Given the description of an element on the screen output the (x, y) to click on. 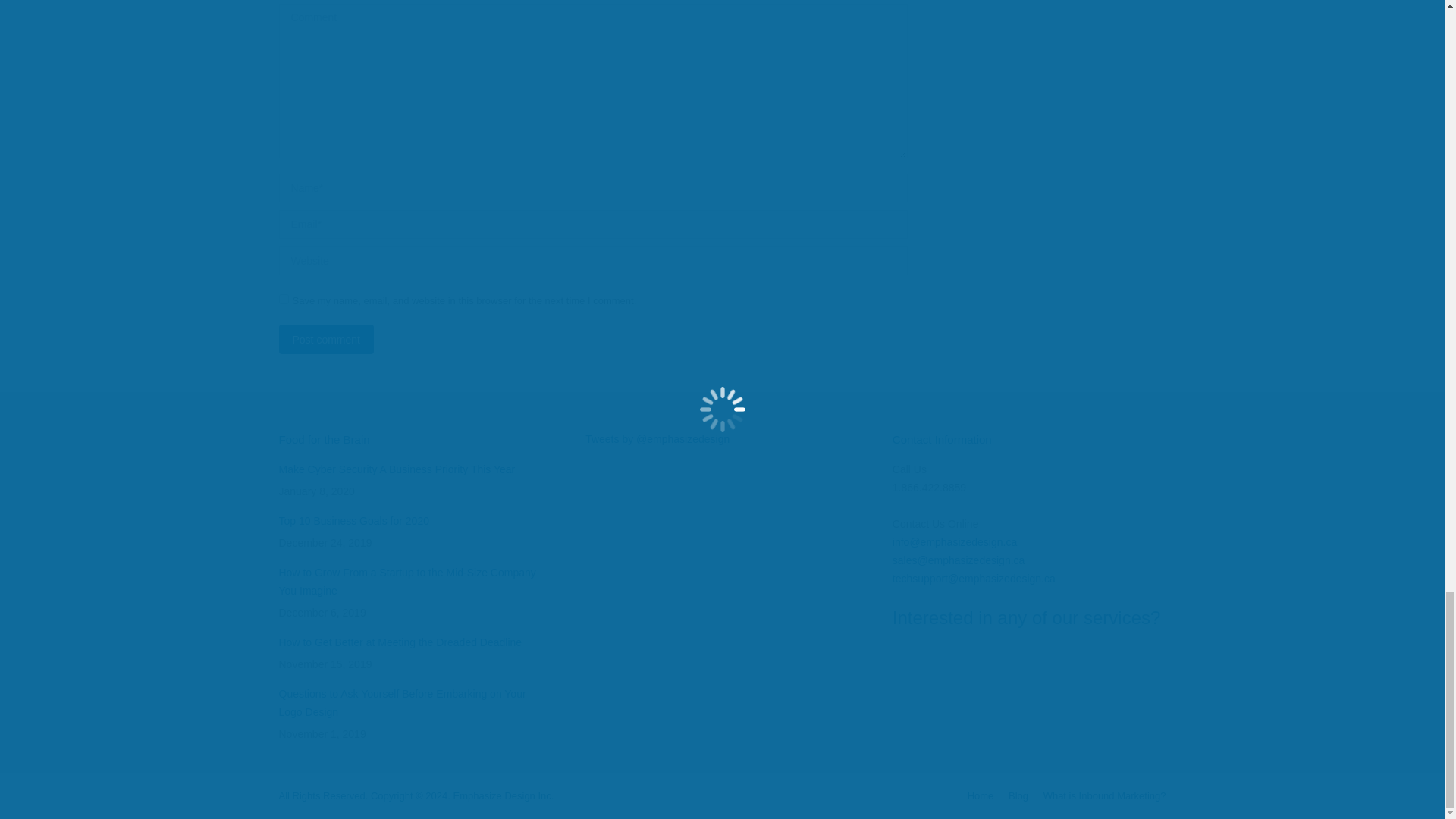
yes (283, 298)
